Given the description of an element on the screen output the (x, y) to click on. 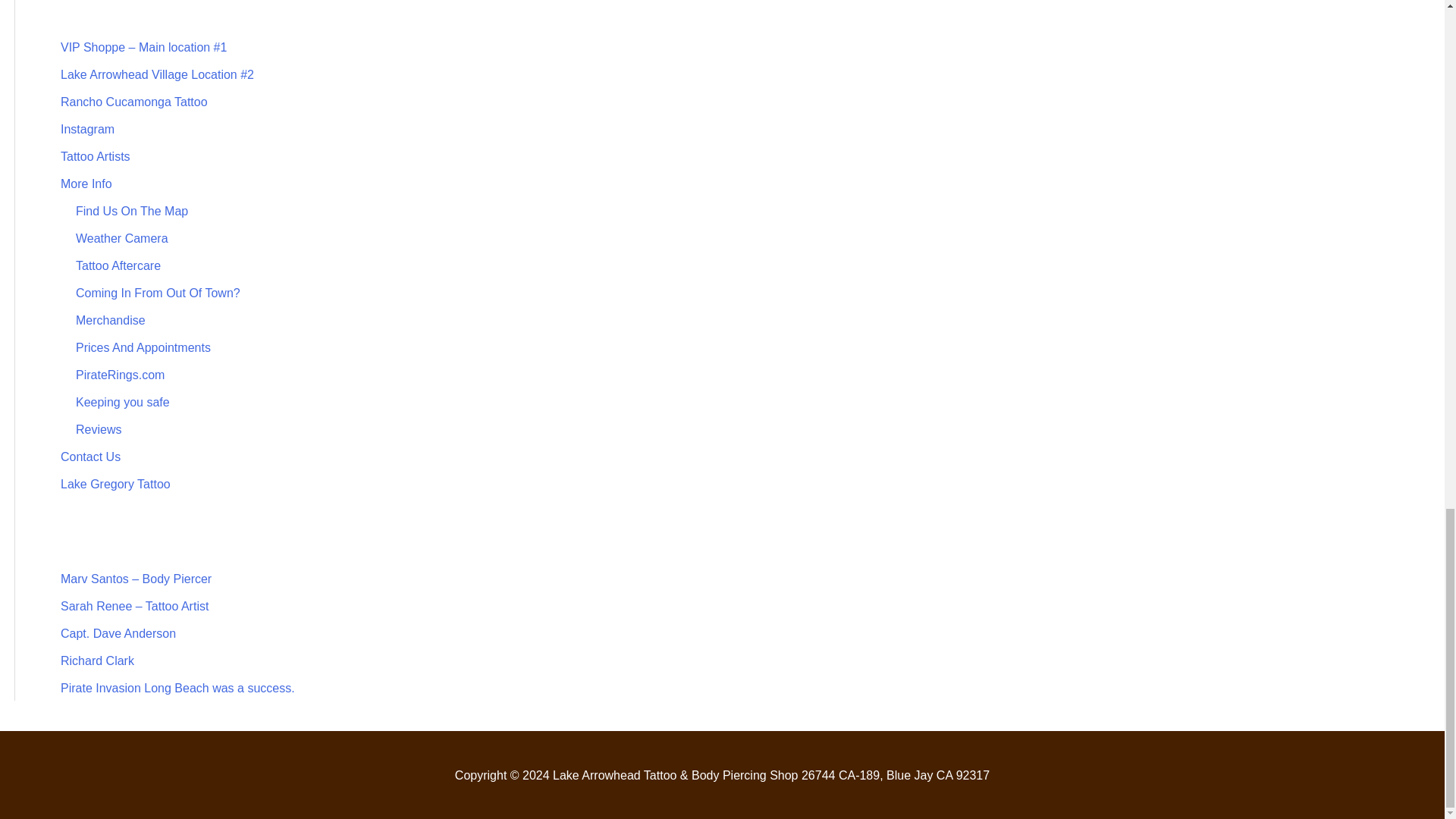
Prices And Appointments (143, 347)
More Info (86, 183)
Merchandise (110, 319)
Tattoo Aftercare (117, 265)
Rancho Cucamonga Tattoo (134, 101)
Coming In From Out Of Town? (157, 292)
PirateRings.com (119, 374)
Weather Camera (121, 237)
Tattoo Artists (96, 155)
Instagram (88, 128)
